Given the description of an element on the screen output the (x, y) to click on. 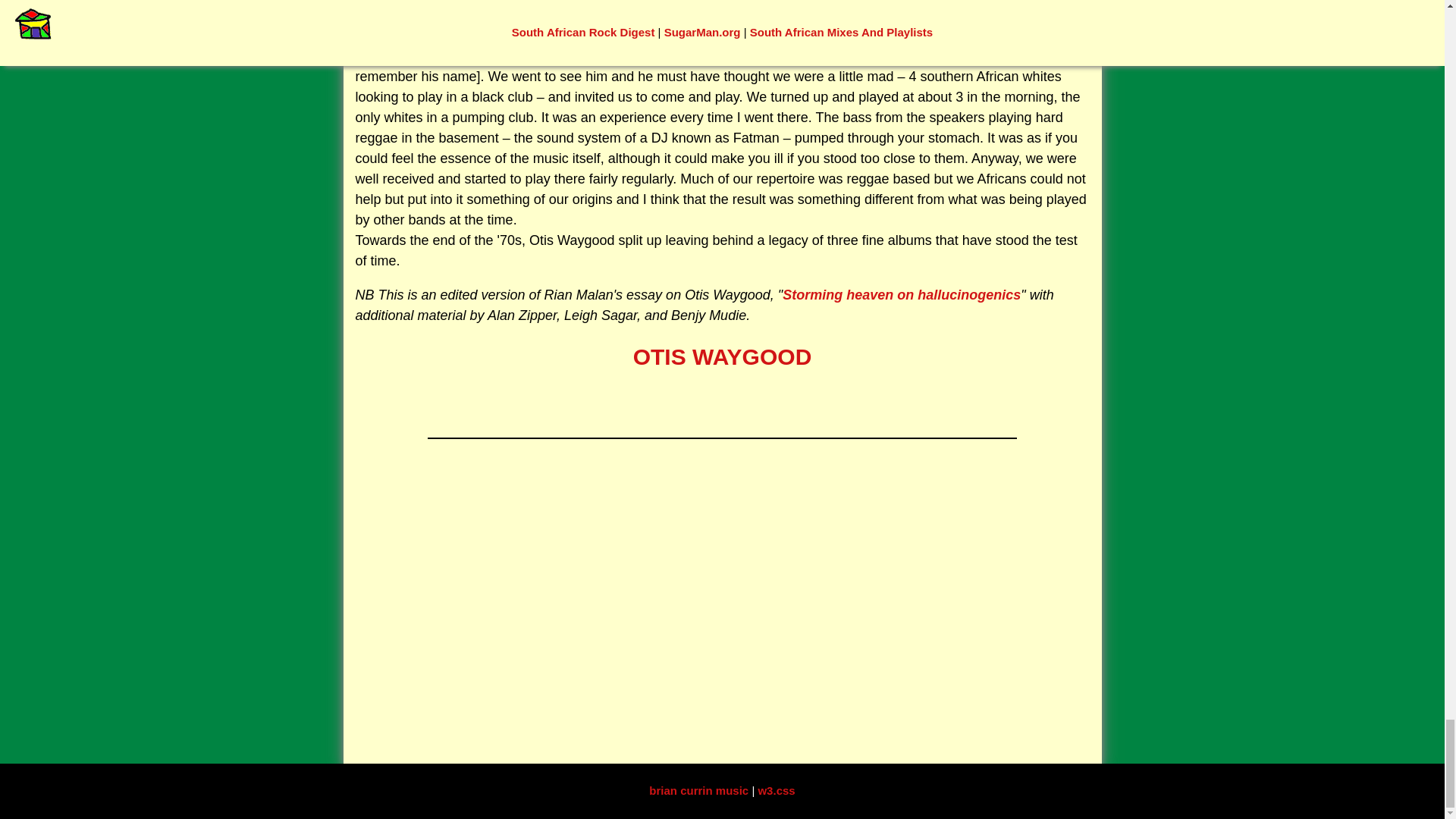
OTIS WAYGOOD (722, 356)
w3.css (775, 789)
brian currin music (700, 789)
W3 Schools (775, 789)
Brian Currin Music (700, 789)
Storming heaven on hallucinogenics (901, 294)
